Given the description of an element on the screen output the (x, y) to click on. 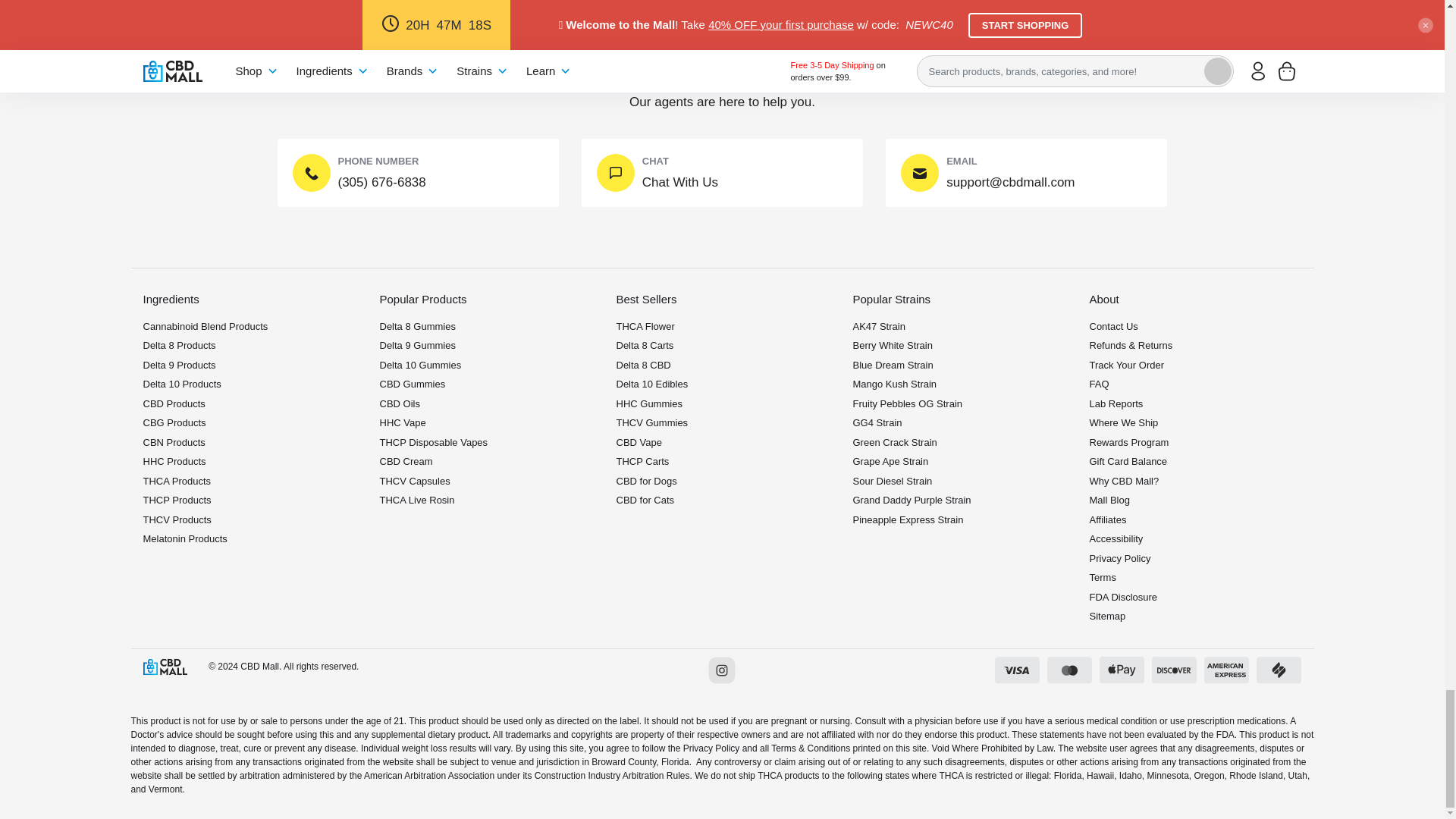
CBD Mall Instagram (721, 669)
Mastercard (1069, 668)
Affiliates (1123, 480)
Wholesale (1109, 500)
Visa (1016, 668)
Discover (1173, 668)
CBD Mall Homepage (164, 666)
Accessibility (1115, 538)
Sezzle (1278, 668)
Corporate (1115, 403)
